Given the description of an element on the screen output the (x, y) to click on. 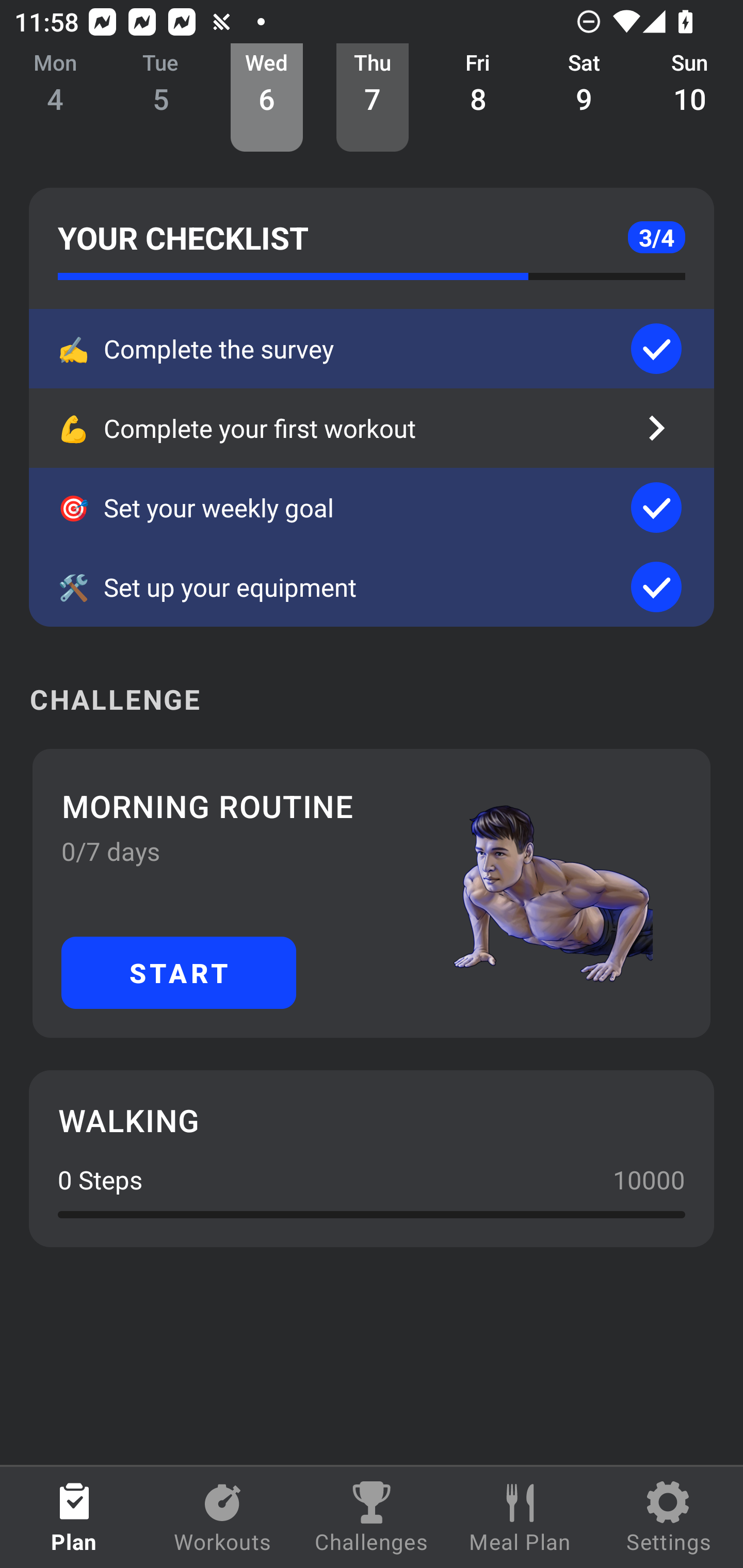
Mon 4 (55, 97)
Tue 5 (160, 97)
Wed 6 (266, 97)
Thu 7 (372, 97)
Fri 8 (478, 97)
Sat 9 (584, 97)
Sun 10 (690, 97)
💪 Complete your first workout (371, 427)
MORNING ROUTINE 0/7 days START (371, 892)
START (178, 972)
WALKING 0 Steps 10000 0.0 (371, 1158)
 Workouts  (222, 1517)
 Challenges  (371, 1517)
 Meal Plan  (519, 1517)
 Settings  (668, 1517)
